Given the description of an element on the screen output the (x, y) to click on. 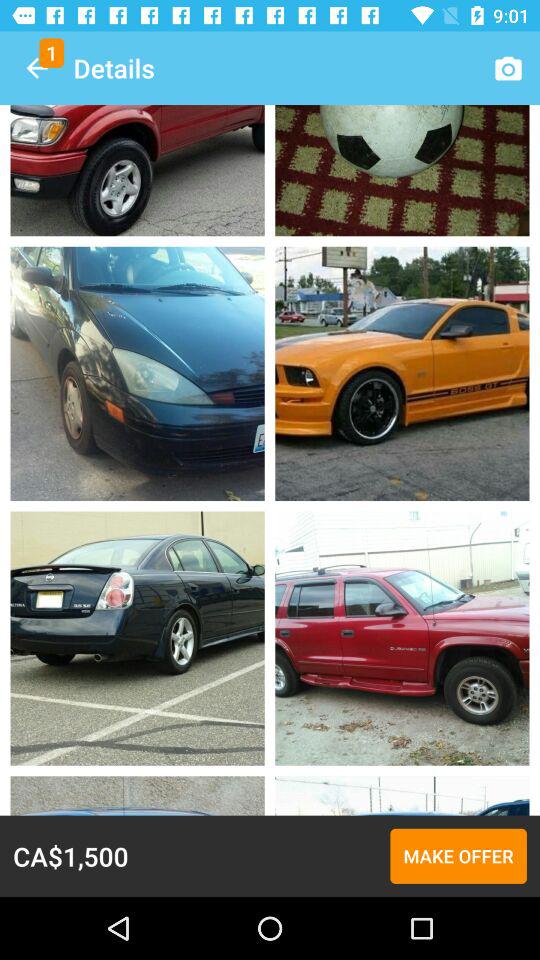
open the icon next to ca$1,500 icon (458, 855)
